Given the description of an element on the screen output the (x, y) to click on. 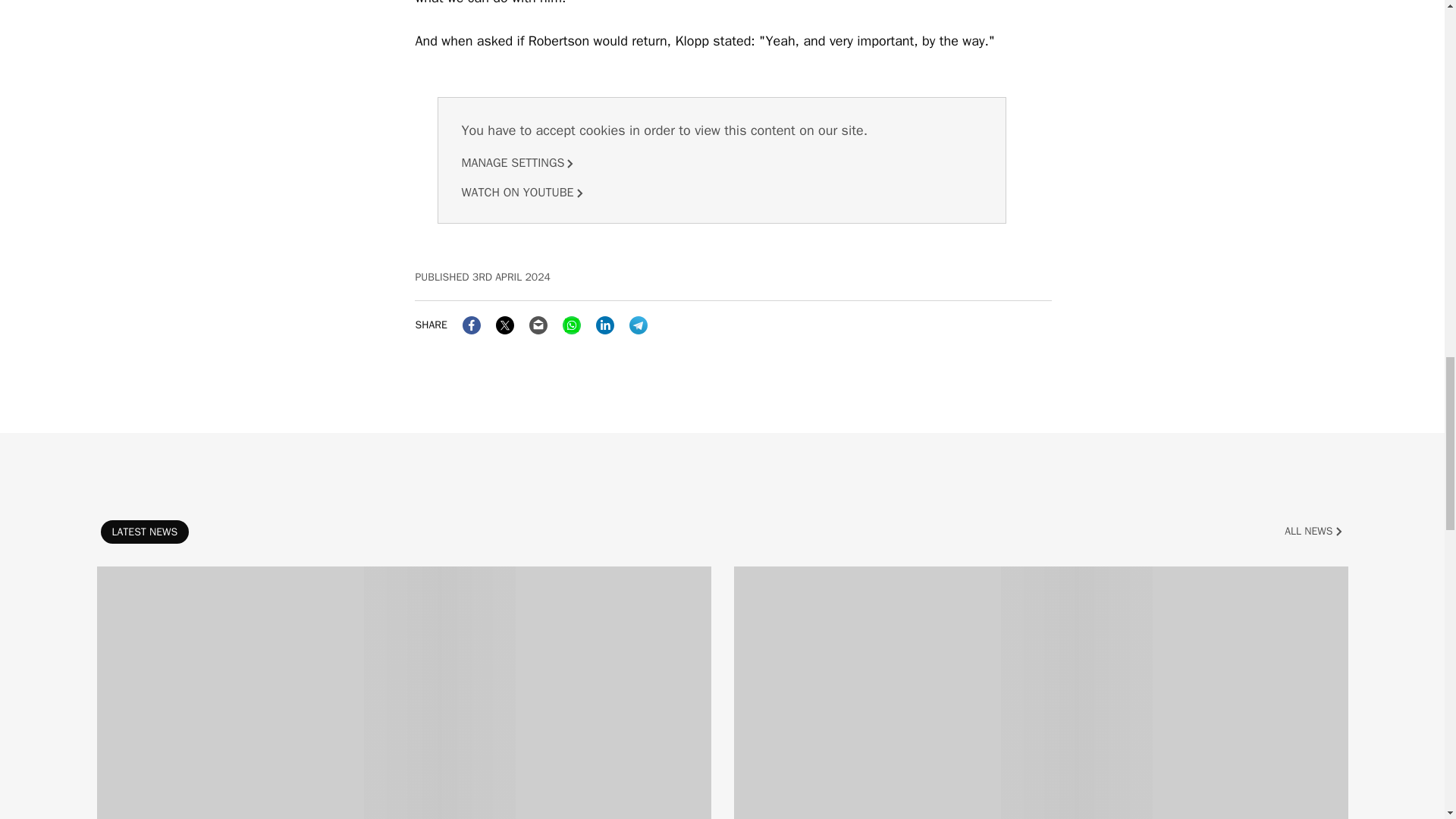
Latest news (144, 531)
